Given the description of an element on the screen output the (x, y) to click on. 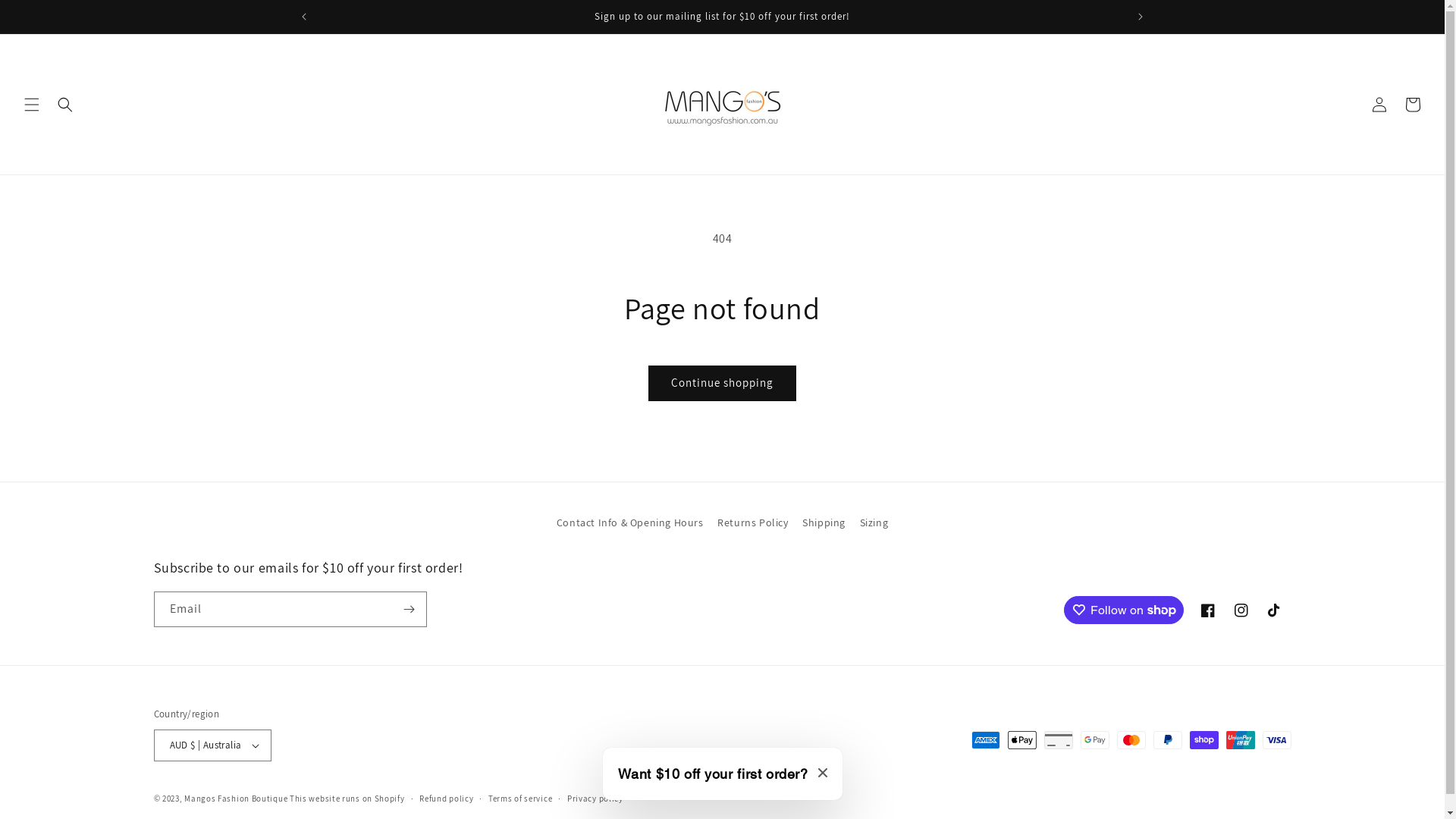
TikTok Element type: text (1273, 610)
Sizing Element type: text (873, 522)
Terms of service Element type: text (520, 798)
AUD $ | Australia Element type: text (212, 745)
Privacy policy Element type: text (595, 798)
Facebook Element type: text (1206, 610)
Shipping Element type: text (823, 522)
Continue shopping Element type: text (722, 383)
Returns Policy Element type: text (752, 522)
Instagram Element type: text (1240, 610)
Mangos Fashion Boutique Element type: text (235, 798)
Contact Info & Opening Hours Element type: text (629, 524)
BLACK FRIDAY SPEND & SAVE! Element type: text (721, 17)
This website runs on Shopify Element type: text (346, 798)
Refund policy Element type: text (446, 798)
Cart Element type: text (1412, 104)
Log in Element type: text (1379, 104)
